Given the description of an element on the screen output the (x, y) to click on. 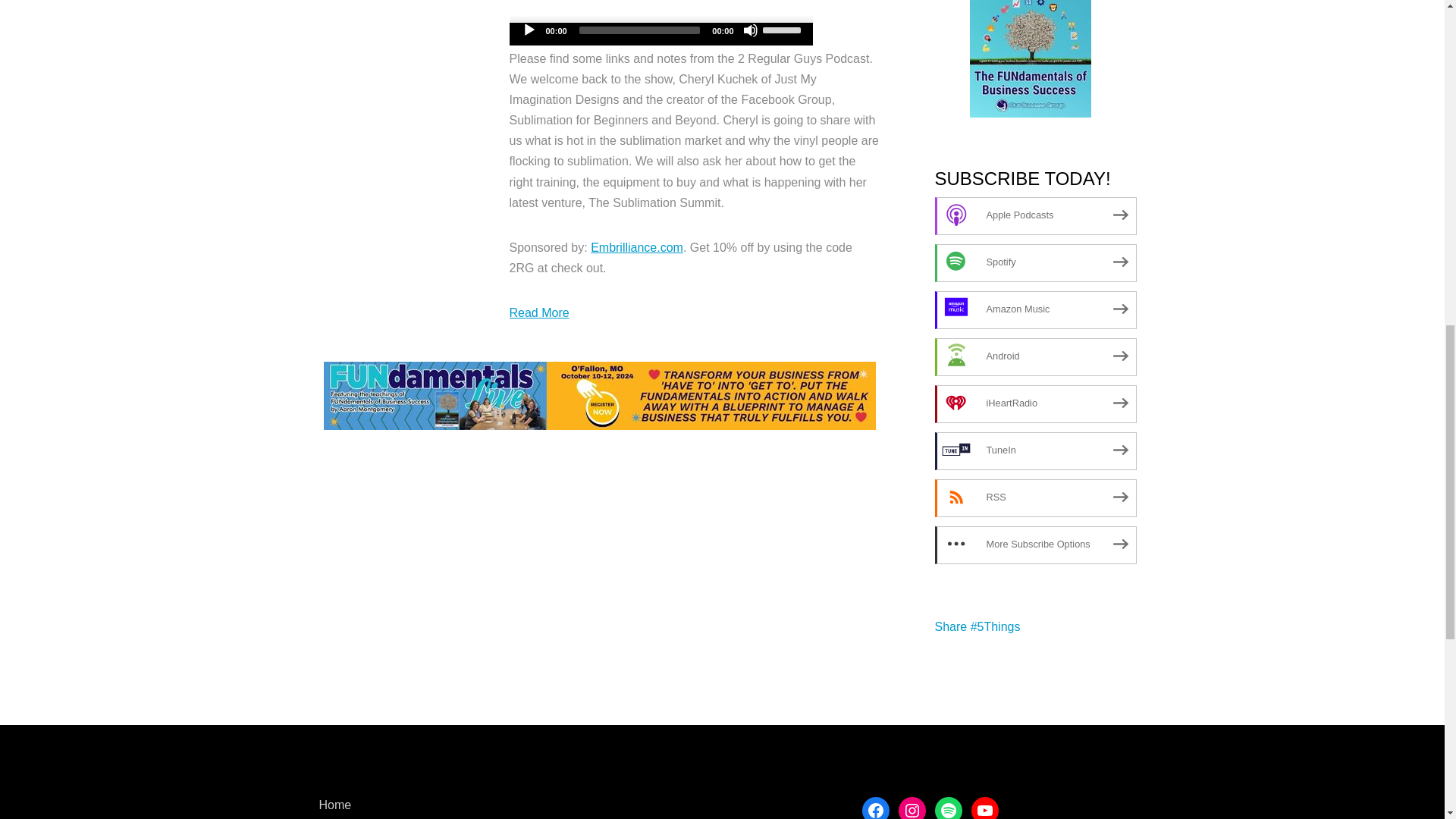
Subscribe on Apple Podcasts (1034, 215)
Play (529, 29)
Subscribe on Spotify (1034, 262)
Subscribe on Amazon Music (1034, 309)
Mute (750, 29)
